Given the description of an element on the screen output the (x, y) to click on. 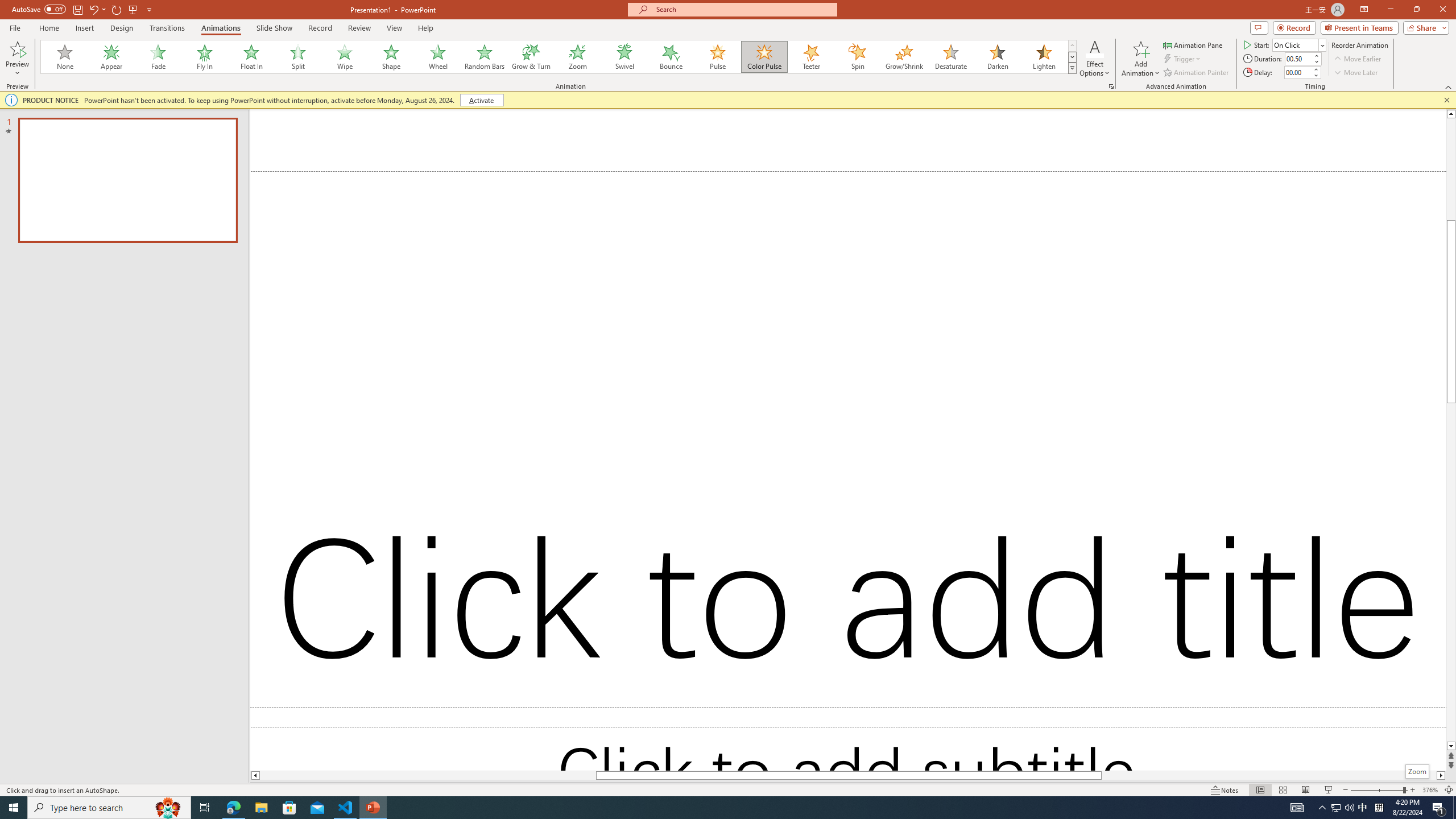
Animation Painter (1196, 72)
Fly In (205, 56)
Grow & Turn (531, 56)
Preview (17, 58)
